Given the description of an element on the screen output the (x, y) to click on. 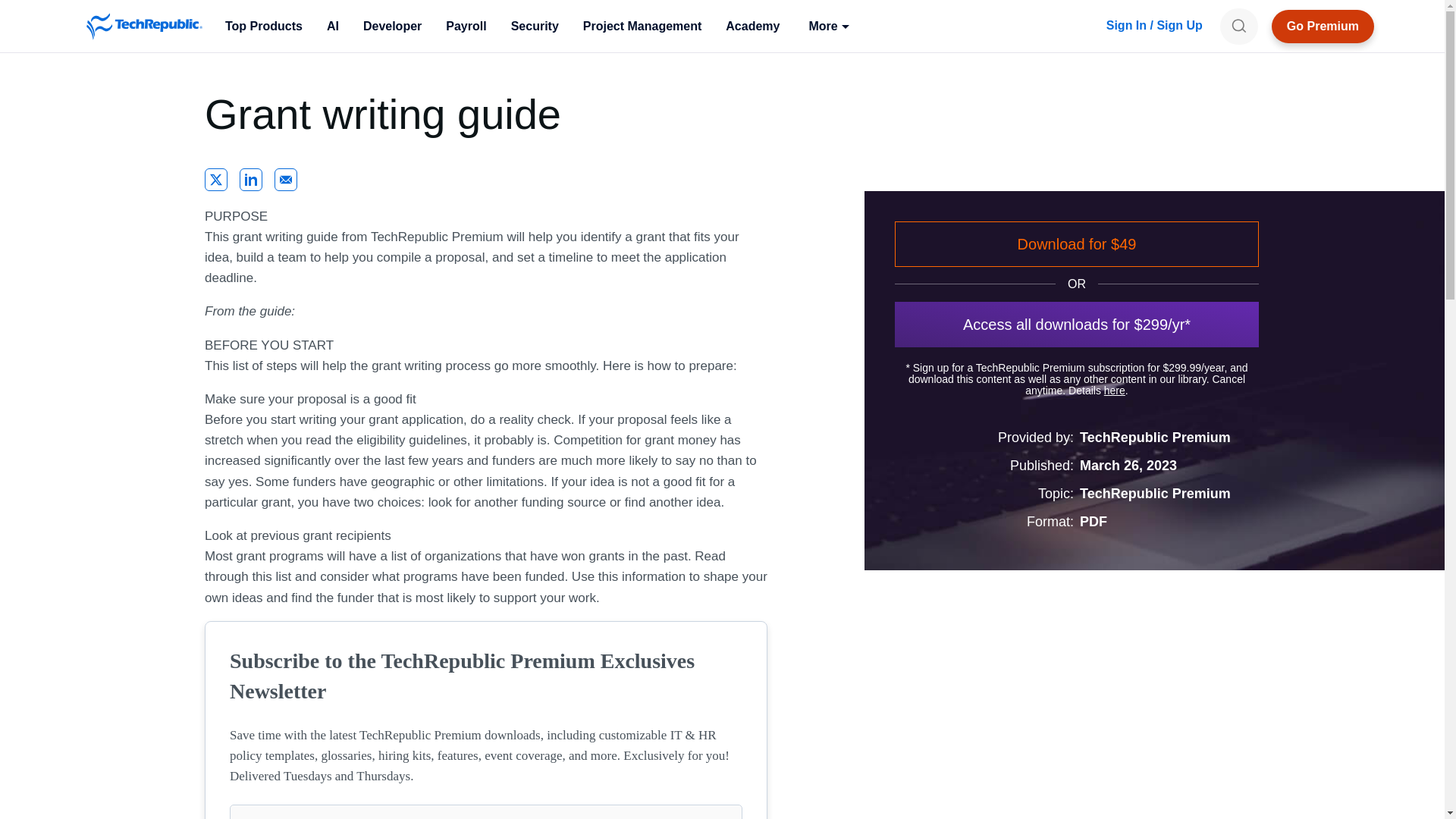
TechRepublic (143, 25)
Top Products (263, 26)
Security (534, 26)
TechRepublic (143, 25)
TechRepublic (143, 25)
Go Premium (1322, 25)
Academy (752, 26)
Payroll (465, 26)
Developer (392, 26)
Project Management (641, 26)
TechRepublic Premium (1322, 25)
